Given the description of an element on the screen output the (x, y) to click on. 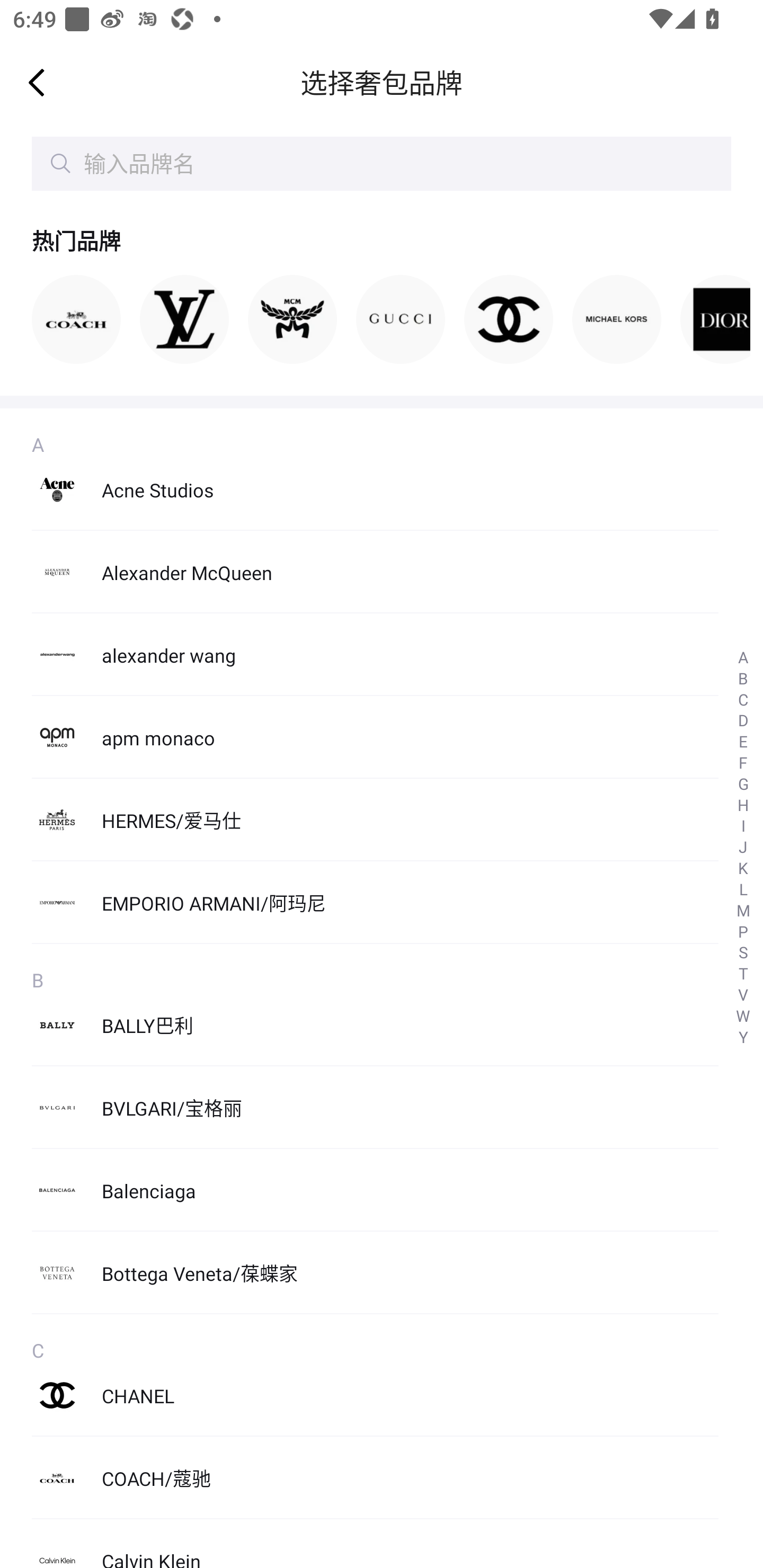
Navigate up (36, 82)
输入品牌名 (381, 163)
Acne Studios (375, 489)
Alexander McQueen (375, 572)
alexander wang (375, 654)
apm monaco (375, 737)
HERMES/爱马仕 (375, 819)
EMPORIO ARMANI/阿玛尼 (375, 901)
BALLY巴利 (375, 1024)
BVLGARI/宝格丽 (375, 1107)
Balenciaga (375, 1189)
Bottega Veneta/葆蝶家 (375, 1271)
CHANEL (375, 1395)
COACH/蔻驰 (375, 1477)
Calvin Klein (375, 1543)
